Given the description of an element on the screen output the (x, y) to click on. 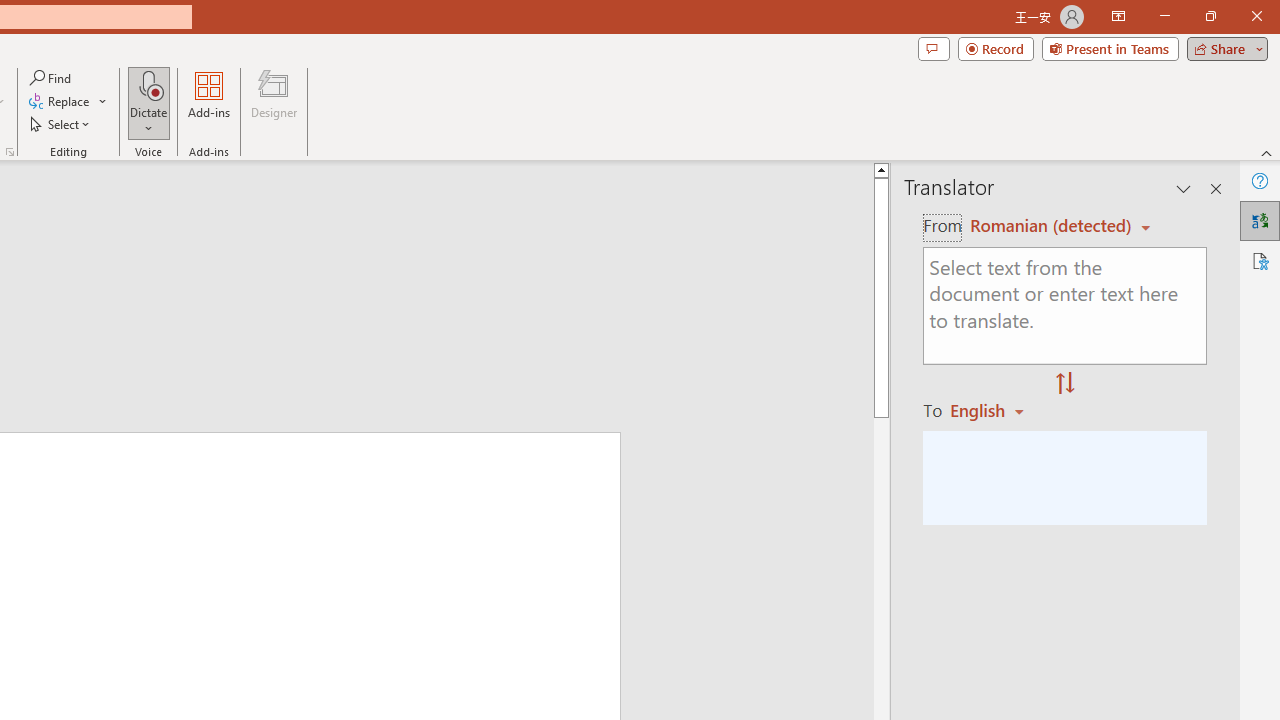
Romanian (detected) (1047, 225)
